Given the description of an element on the screen output the (x, y) to click on. 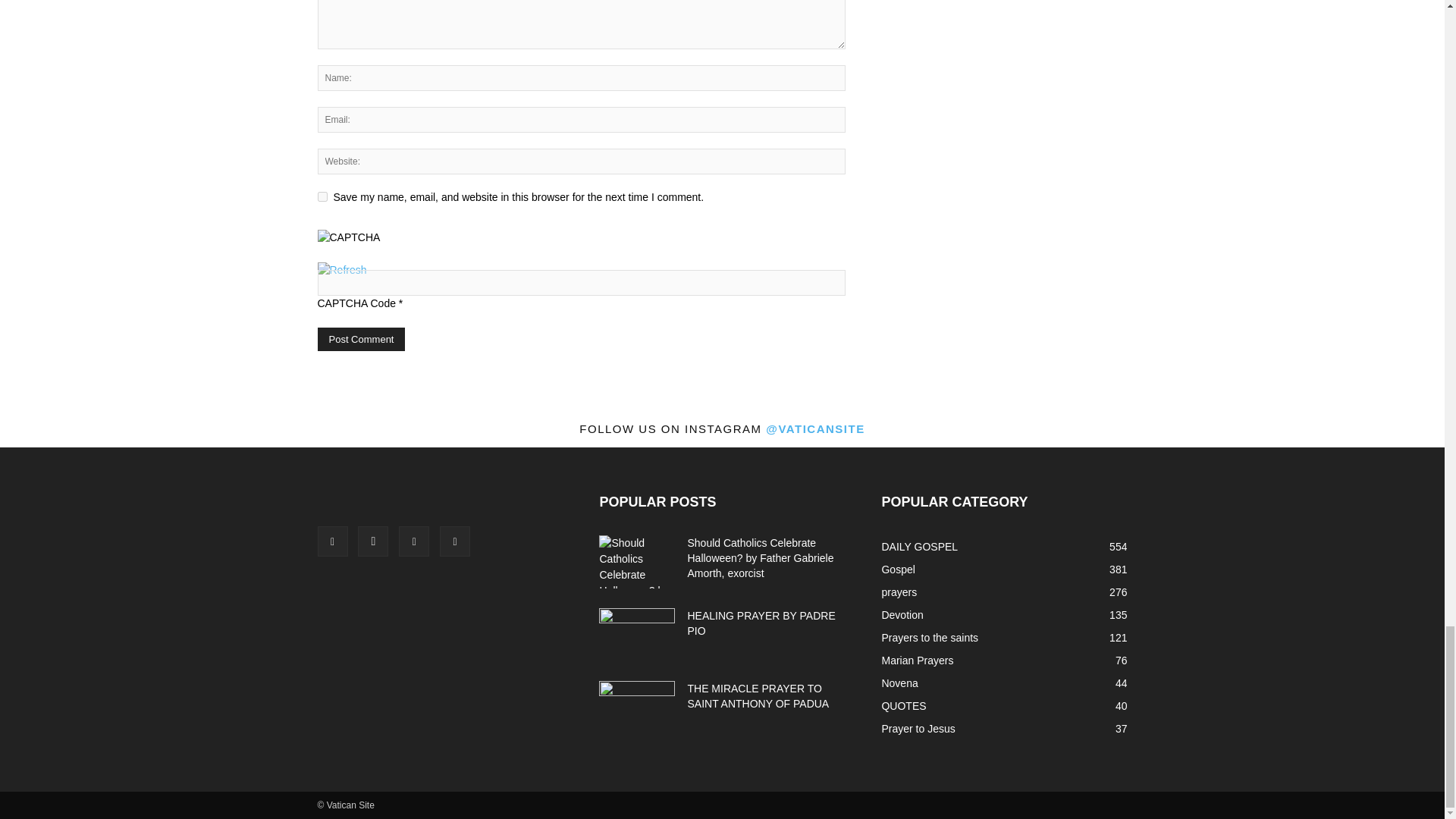
yes (321, 196)
Post Comment (360, 339)
